Given the description of an element on the screen output the (x, y) to click on. 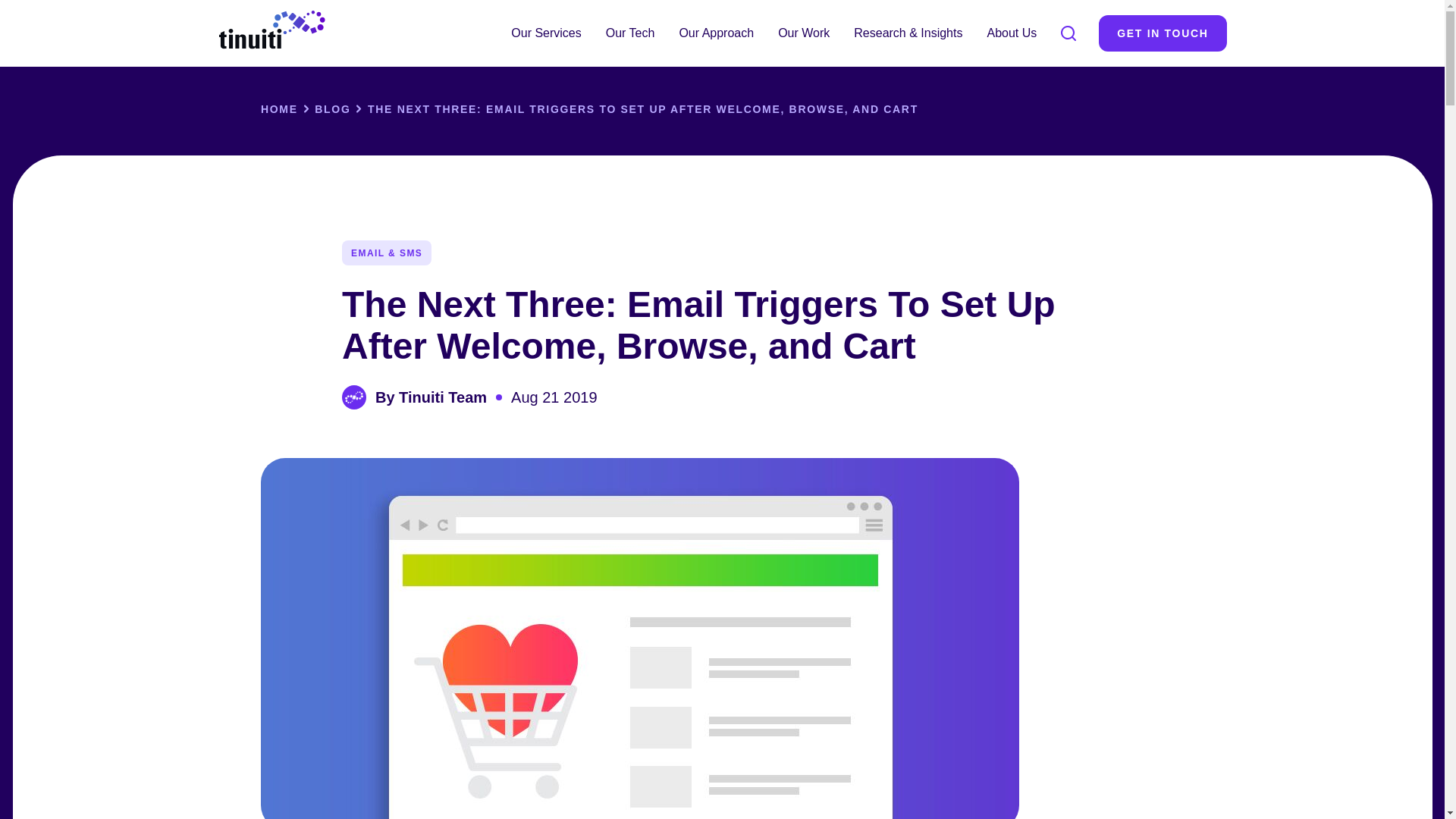
Our Approach (715, 33)
Our Work (803, 33)
Our Services (545, 33)
Our Tech (630, 33)
